Given the description of an element on the screen output the (x, y) to click on. 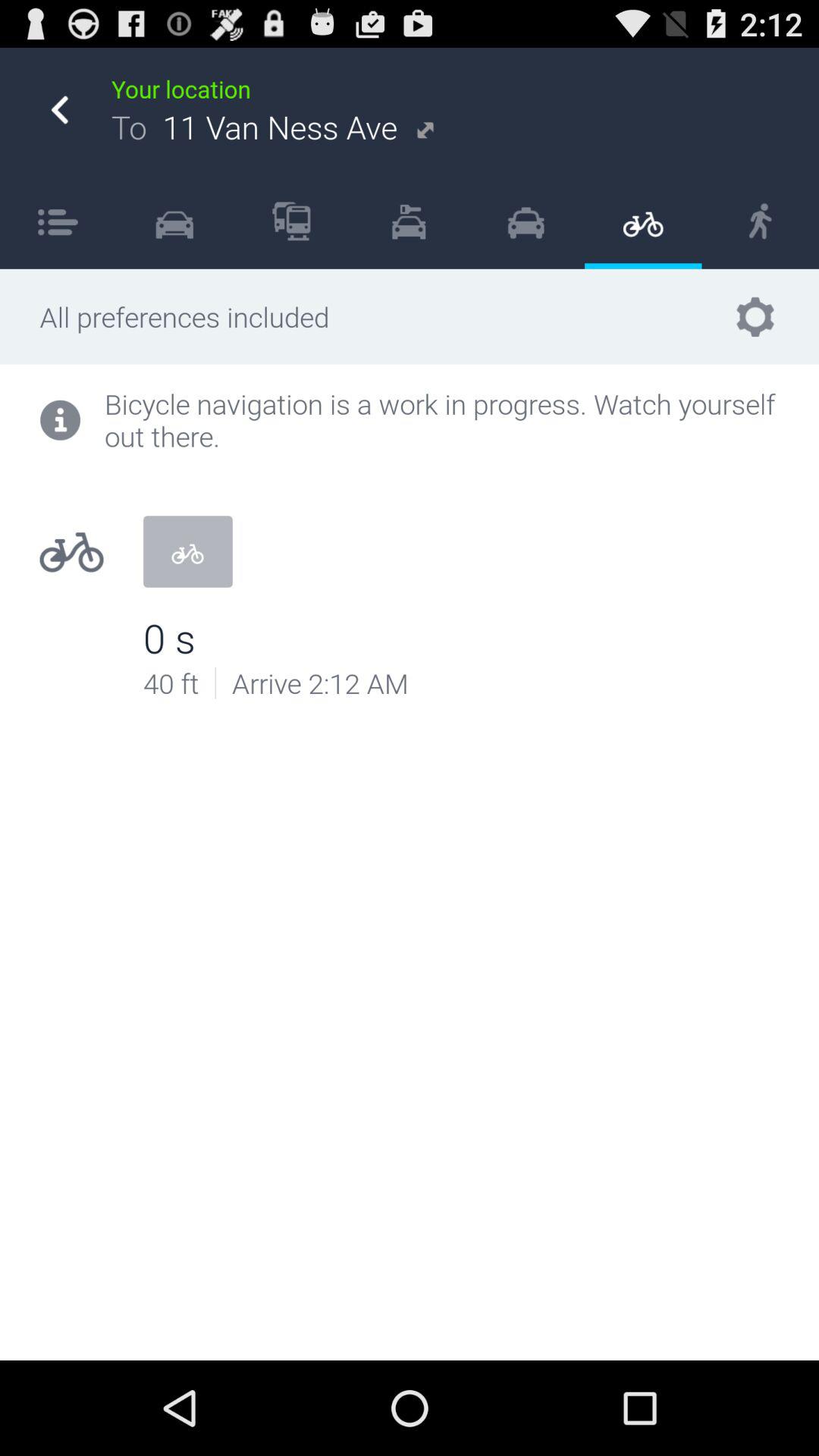
open icon next to the   icon (58, 221)
